Given the description of an element on the screen output the (x, y) to click on. 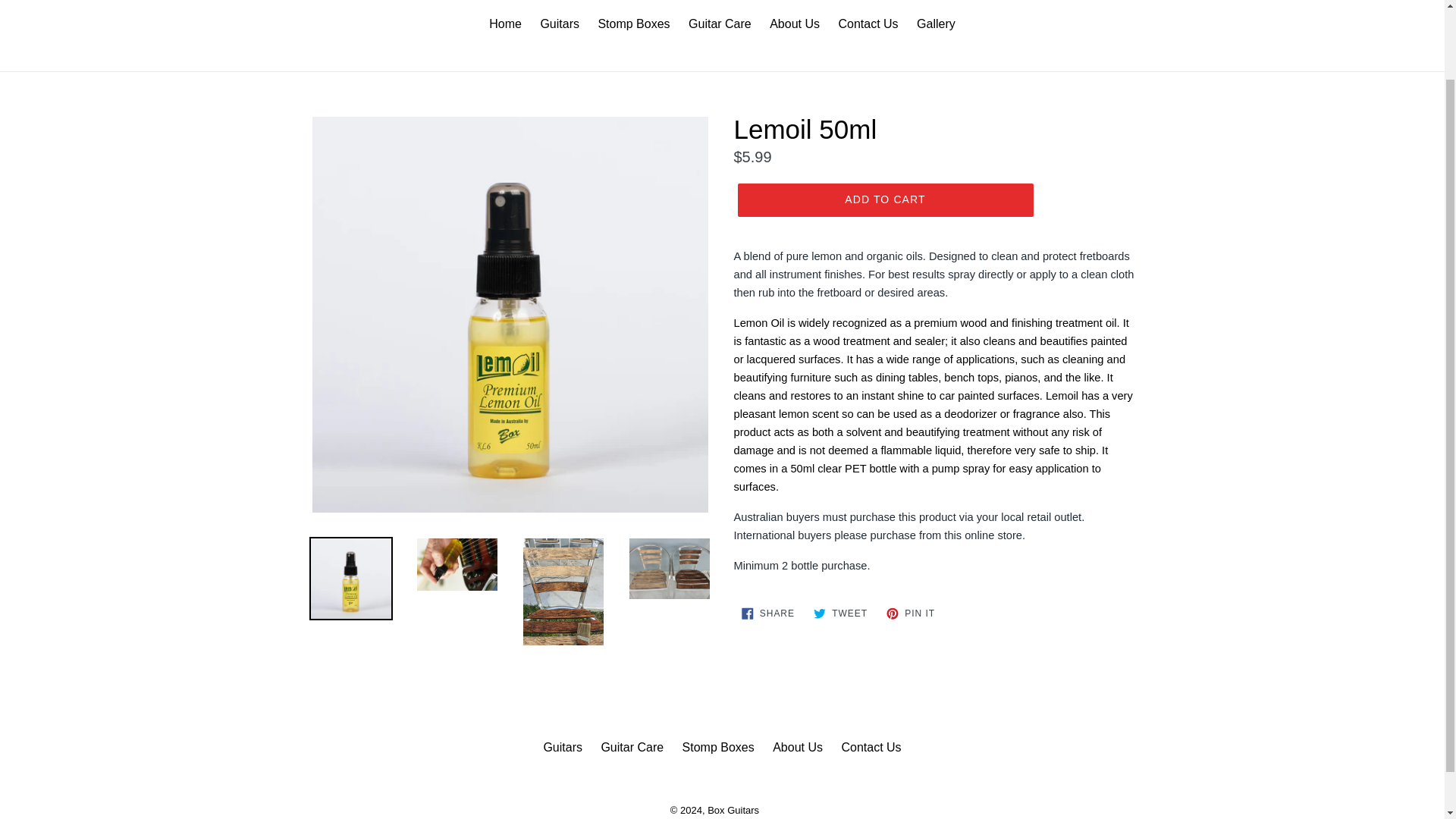
Gallery (935, 25)
ADD TO CART (910, 613)
Stomp Boxes (884, 200)
Box Guitars (633, 25)
About Us (732, 809)
Contact Us (797, 747)
Guitar Care (840, 613)
Stomp Boxes (867, 25)
Guitar Care (767, 613)
Guitars (631, 747)
Contact Us (718, 747)
About Us (719, 25)
